Given the description of an element on the screen output the (x, y) to click on. 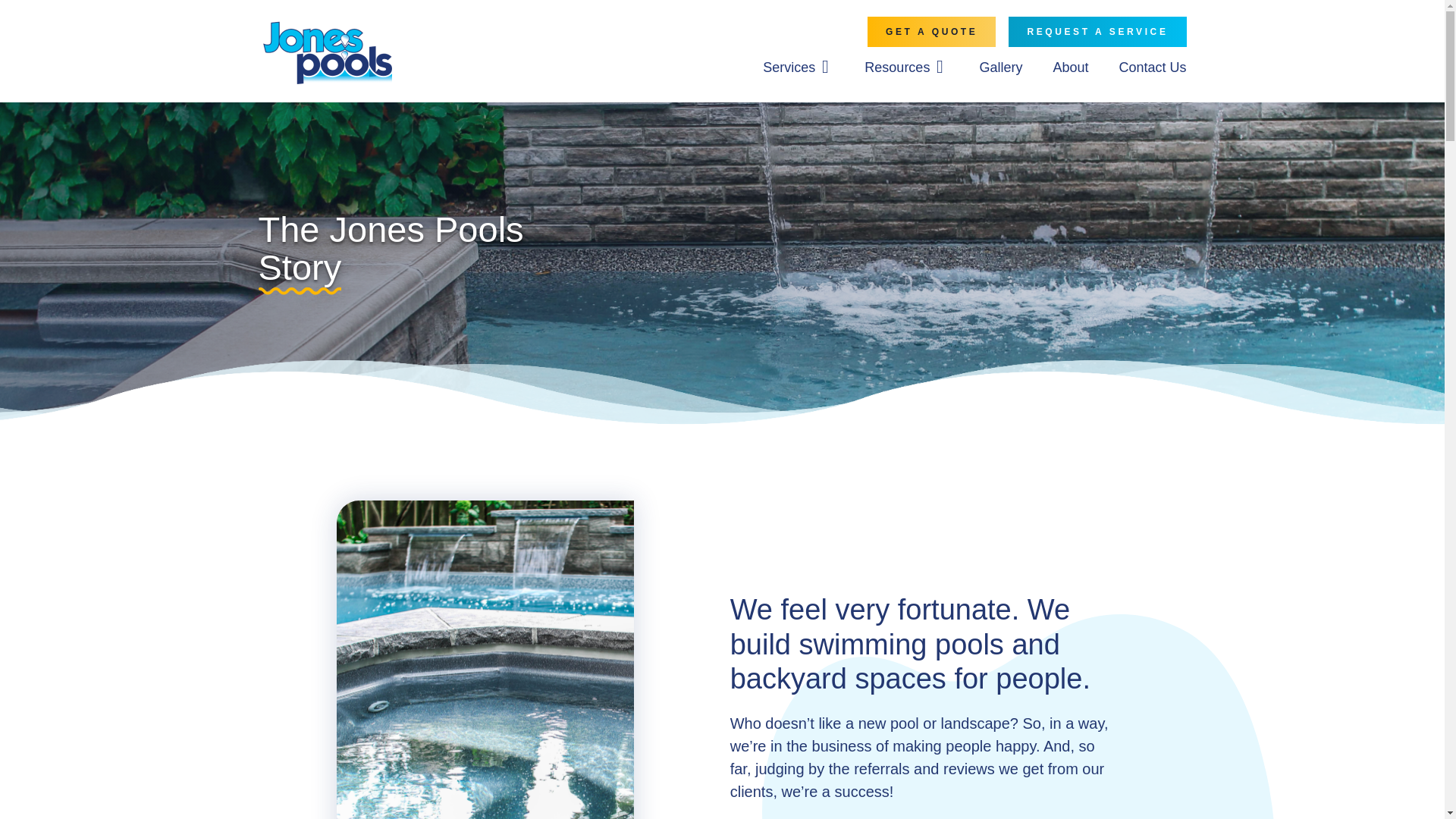
REQUEST A SERVICE (1097, 31)
GET A QUOTE (931, 31)
Contact Us (1152, 74)
Services (788, 74)
Resources (897, 74)
